Given the description of an element on the screen output the (x, y) to click on. 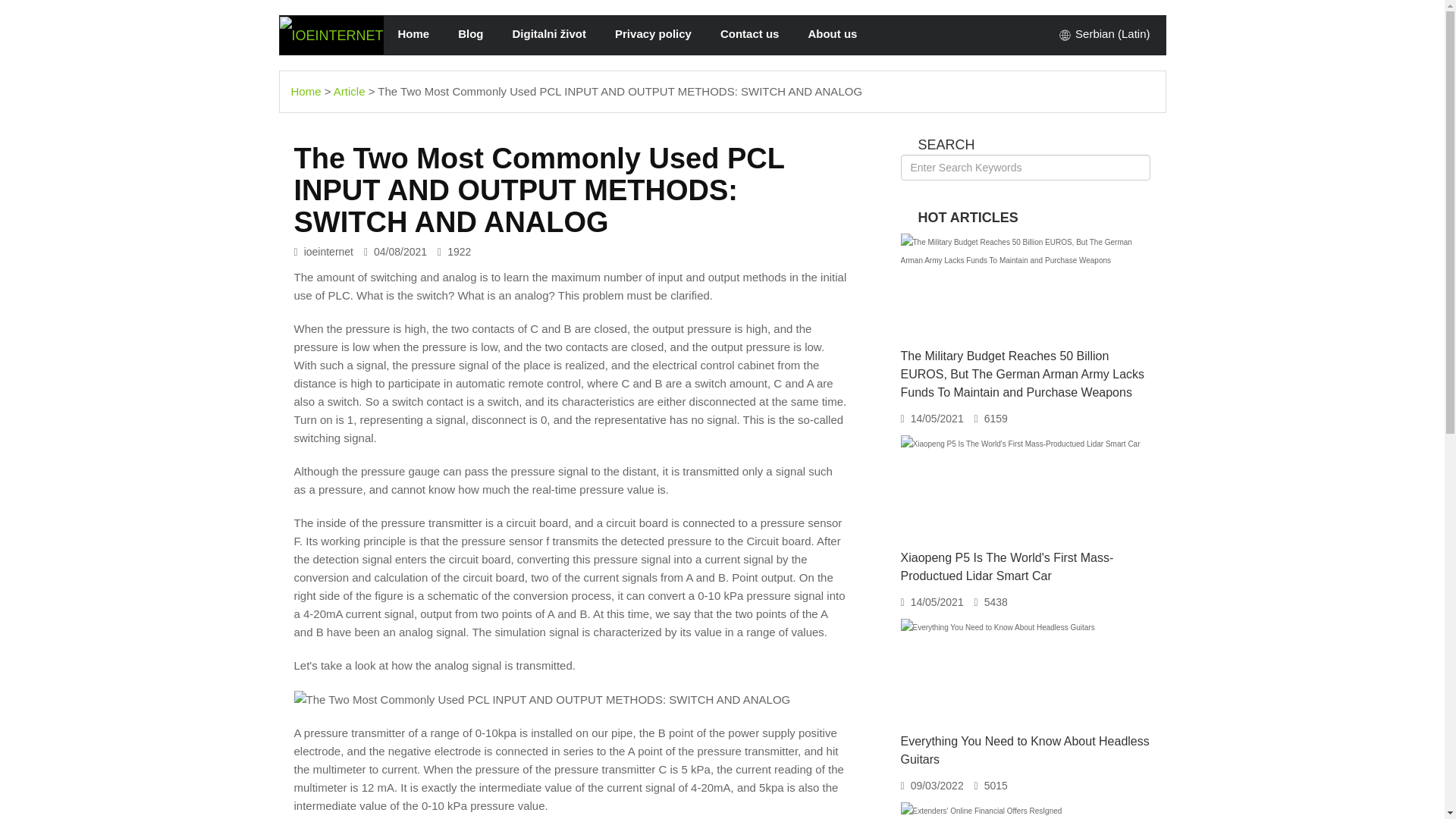
Blog (470, 33)
Home (306, 91)
Everything You Need to Know About Headless Guitars (1025, 749)
ioeinternet (330, 35)
Contact us (749, 33)
Contact us (749, 33)
About us (831, 33)
Privacy policy (652, 33)
About us (831, 33)
Home (414, 33)
Blog (470, 33)
Privacy policy (652, 33)
